Given the description of an element on the screen output the (x, y) to click on. 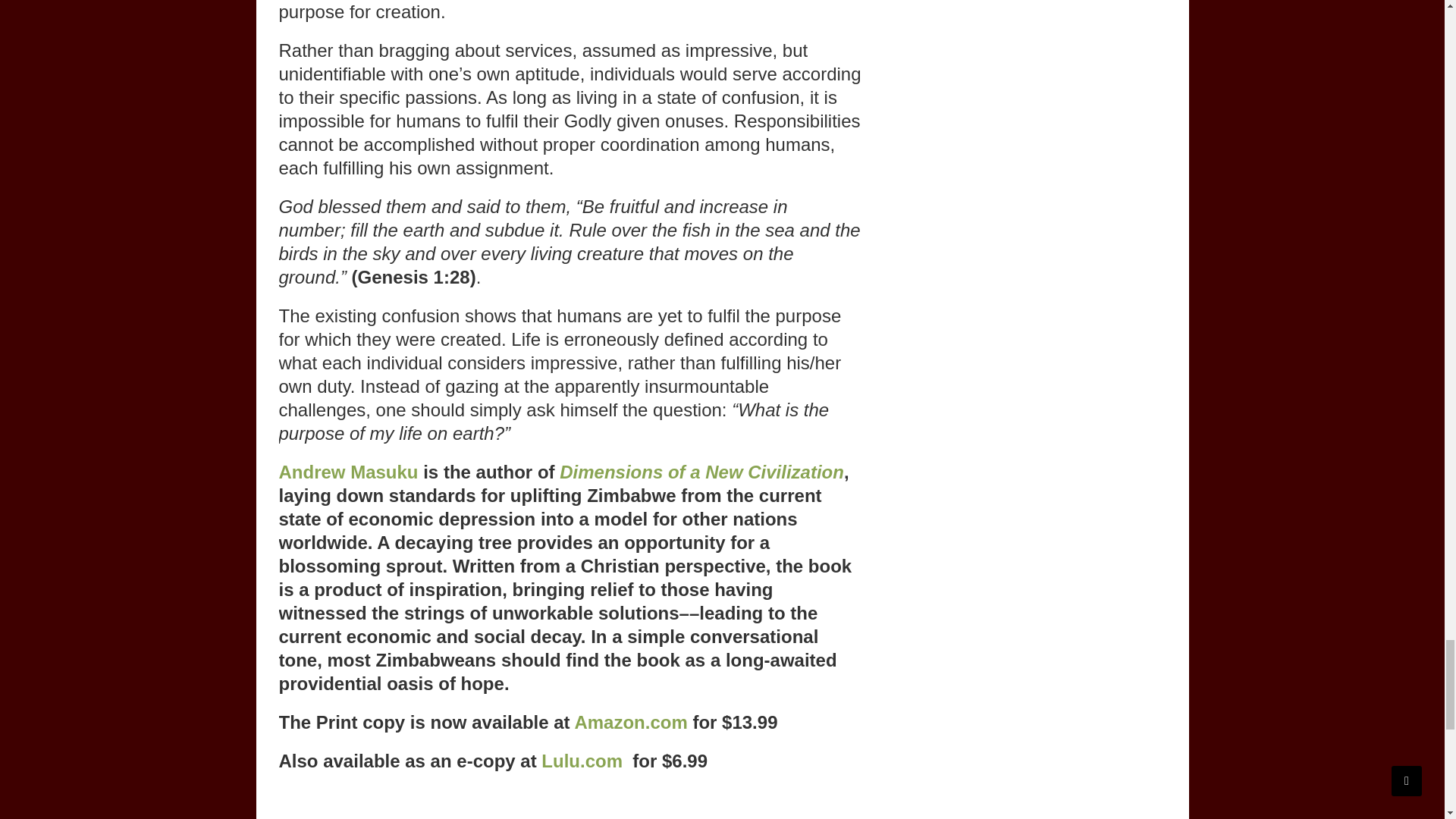
Dimensions of a New Civilization (701, 471)
Lulu.com (582, 761)
Amazon.com (630, 721)
Andrew Masuku (349, 471)
